Given the description of an element on the screen output the (x, y) to click on. 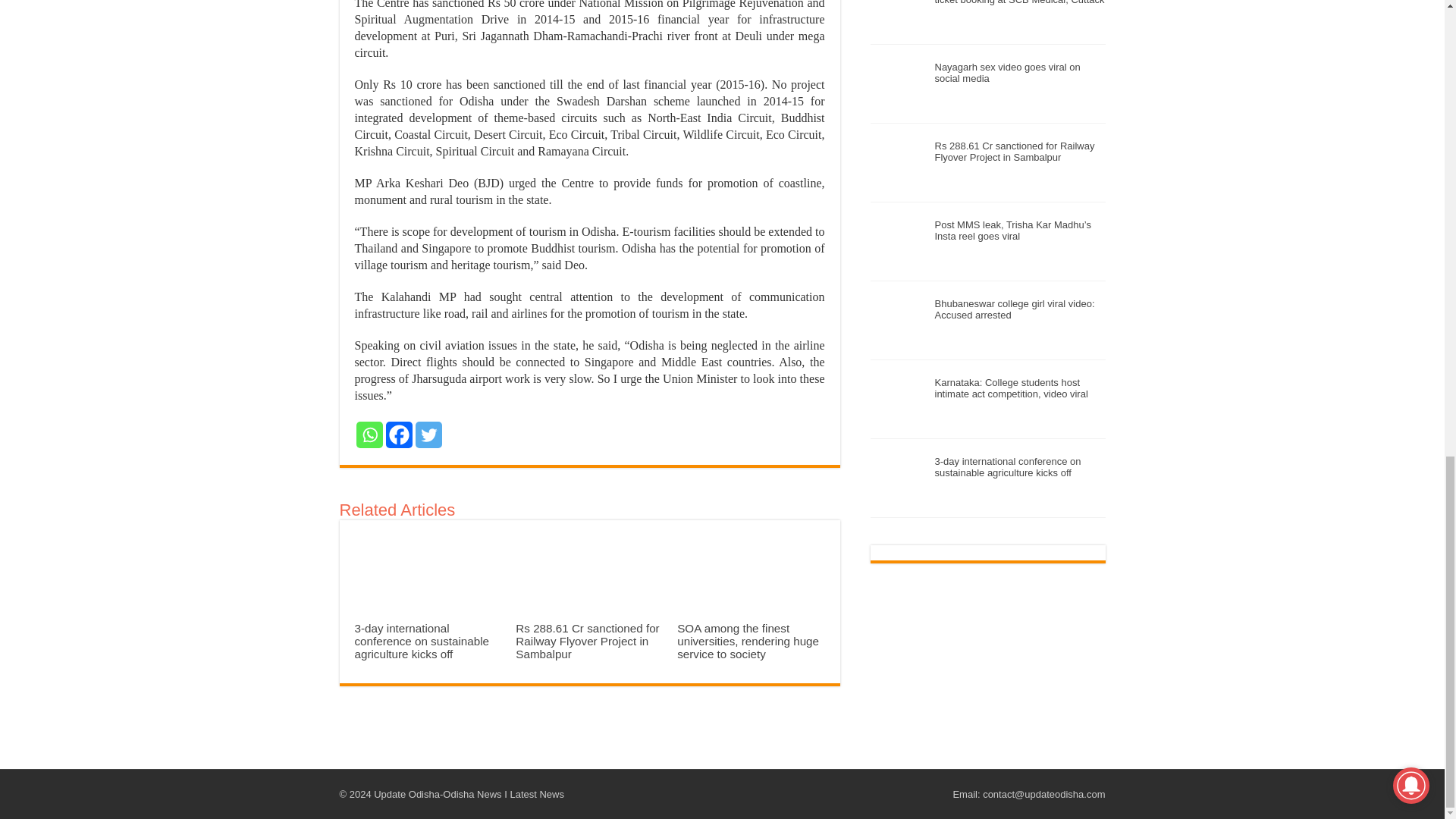
Whatsapp (369, 434)
Twitter (428, 434)
Facebook (398, 434)
